Given the description of an element on the screen output the (x, y) to click on. 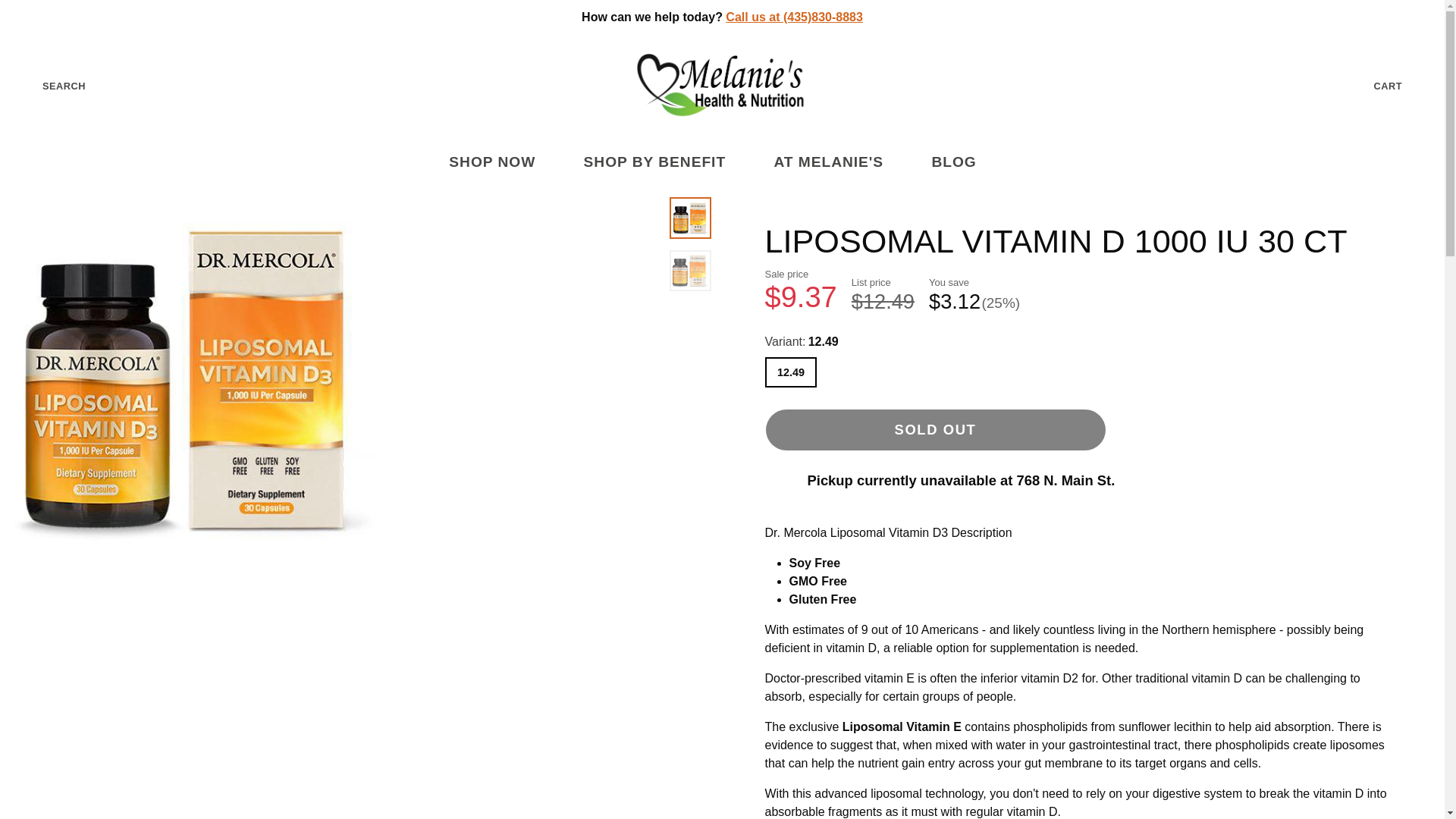
SEARCH (51, 85)
BLOG (963, 162)
SOLD OUT (934, 429)
CART (1399, 85)
SHOP BY BENEFIT (663, 162)
AT MELANIE'S (837, 162)
SHOP NOW (501, 162)
